Given the description of an element on the screen output the (x, y) to click on. 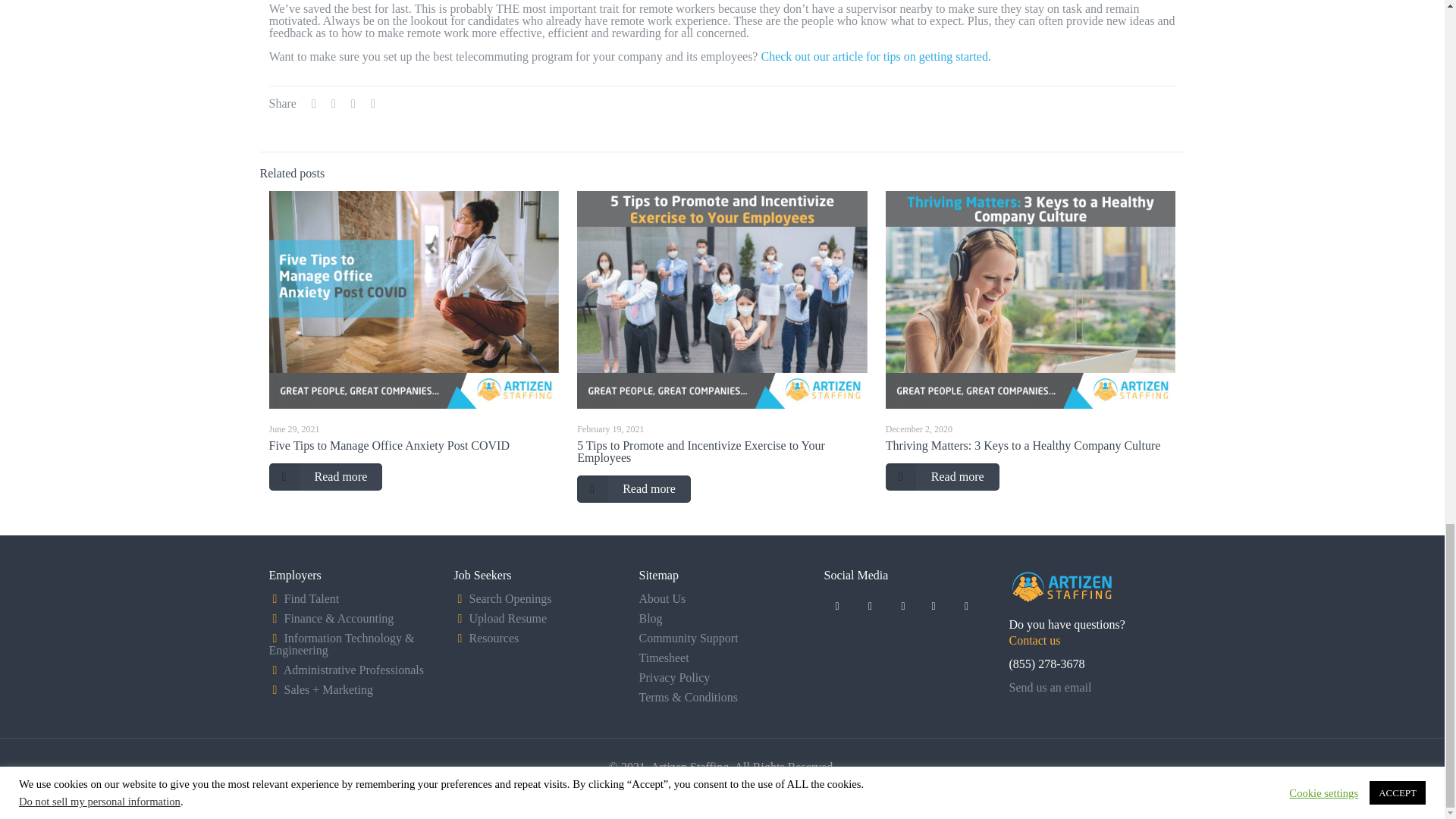
Check out our article for tips on getting started. (875, 56)
Five Tips to Manage Office Anxiety Post COVID (387, 445)
Read more (324, 476)
